Given the description of an element on the screen output the (x, y) to click on. 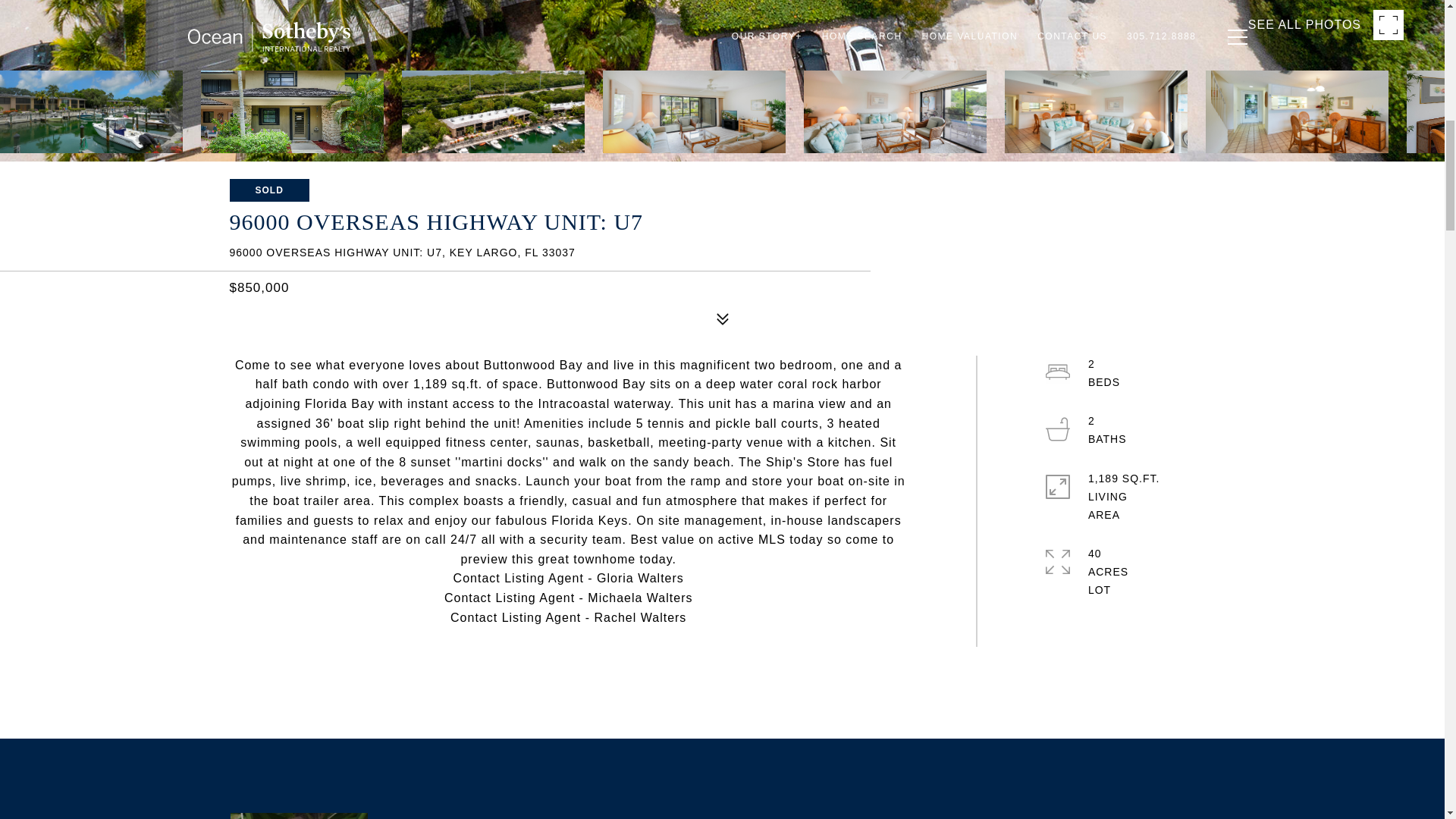
Contact Listing Agent - Rachel Walters (567, 617)
Contact Listing Agent - Gloria Walters (568, 577)
Contact Listing Agent - Michaela Walters (568, 597)
